Given the description of an element on the screen output the (x, y) to click on. 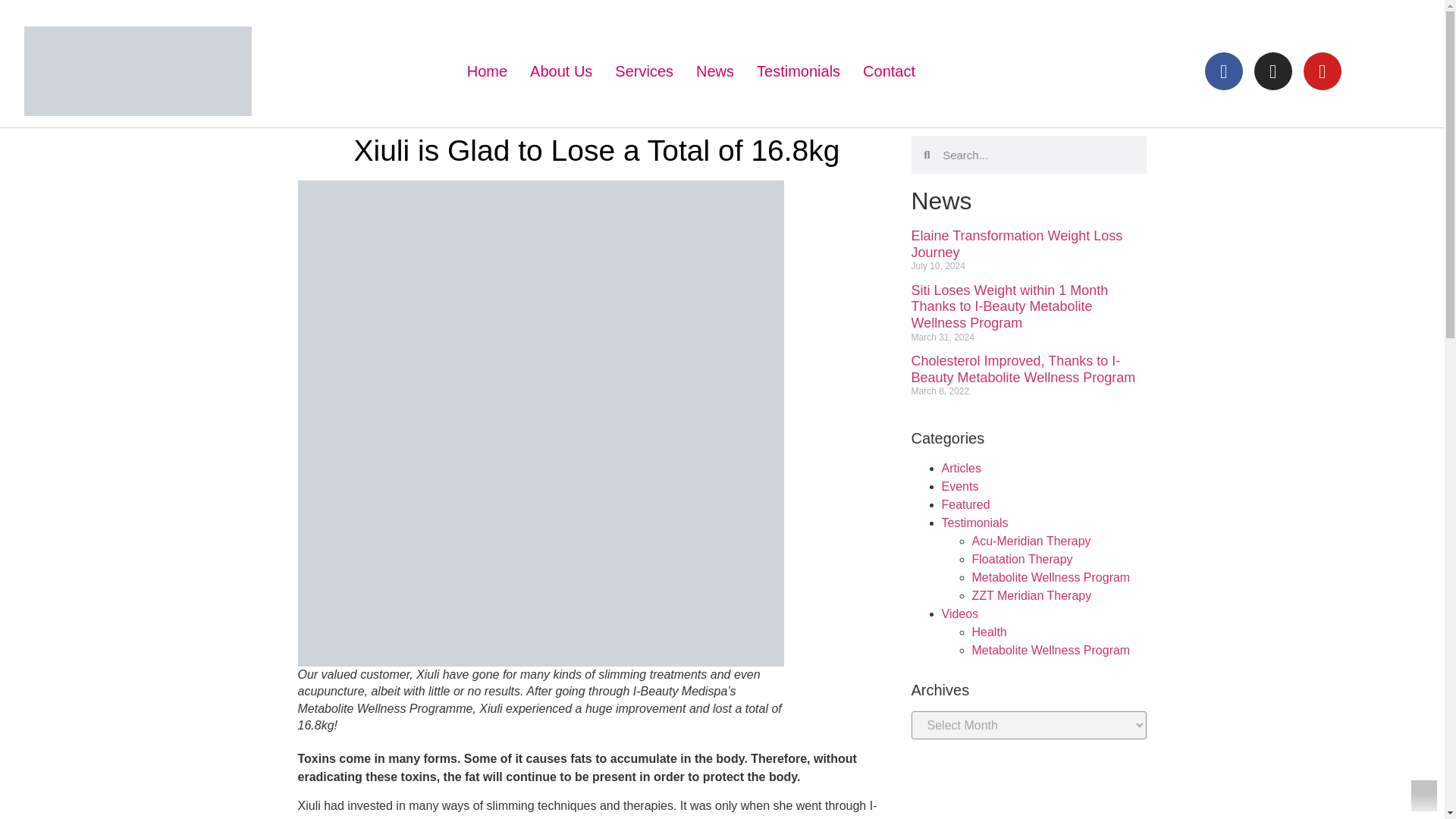
Services (644, 71)
About Us (561, 71)
Contact (888, 71)
Home (486, 71)
News (714, 71)
Testimonials (798, 71)
